Given the description of an element on the screen output the (x, y) to click on. 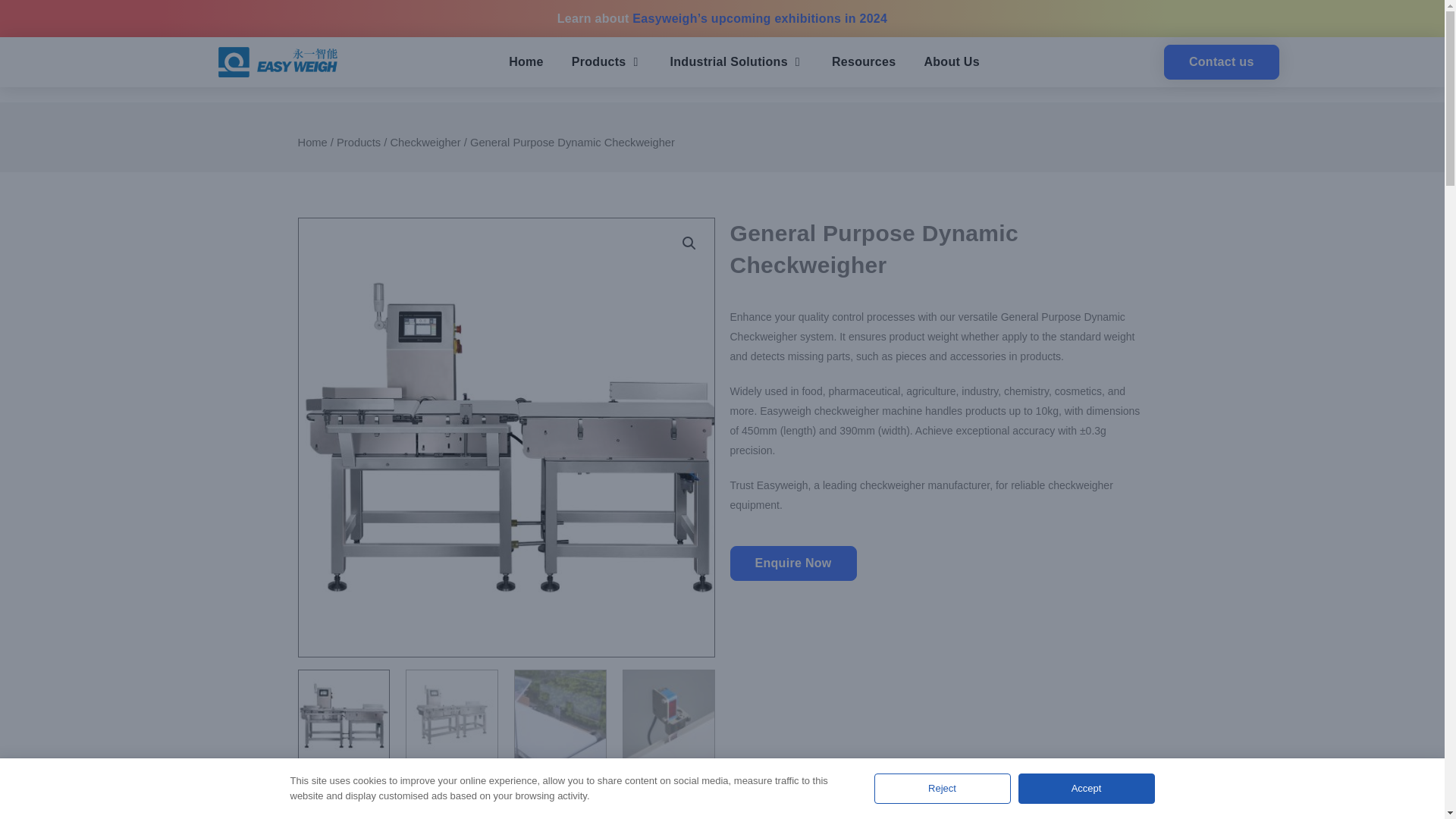
Home (525, 62)
About Us (951, 62)
Industrial Solutions (728, 62)
Resources (863, 62)
Products (599, 62)
